Given the description of an element on the screen output the (x, y) to click on. 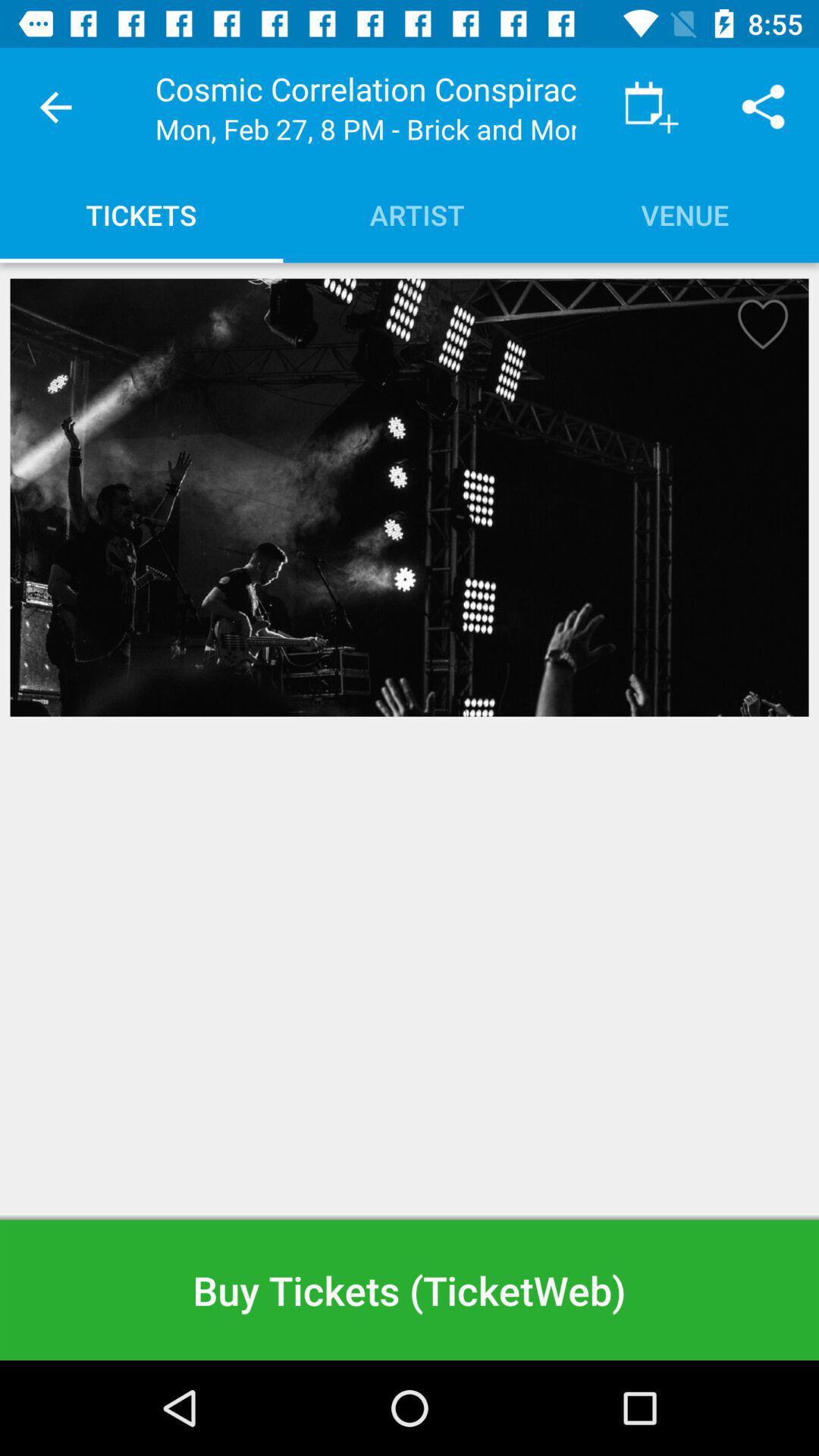
choose item above venue item (763, 107)
